Given the description of an element on the screen output the (x, y) to click on. 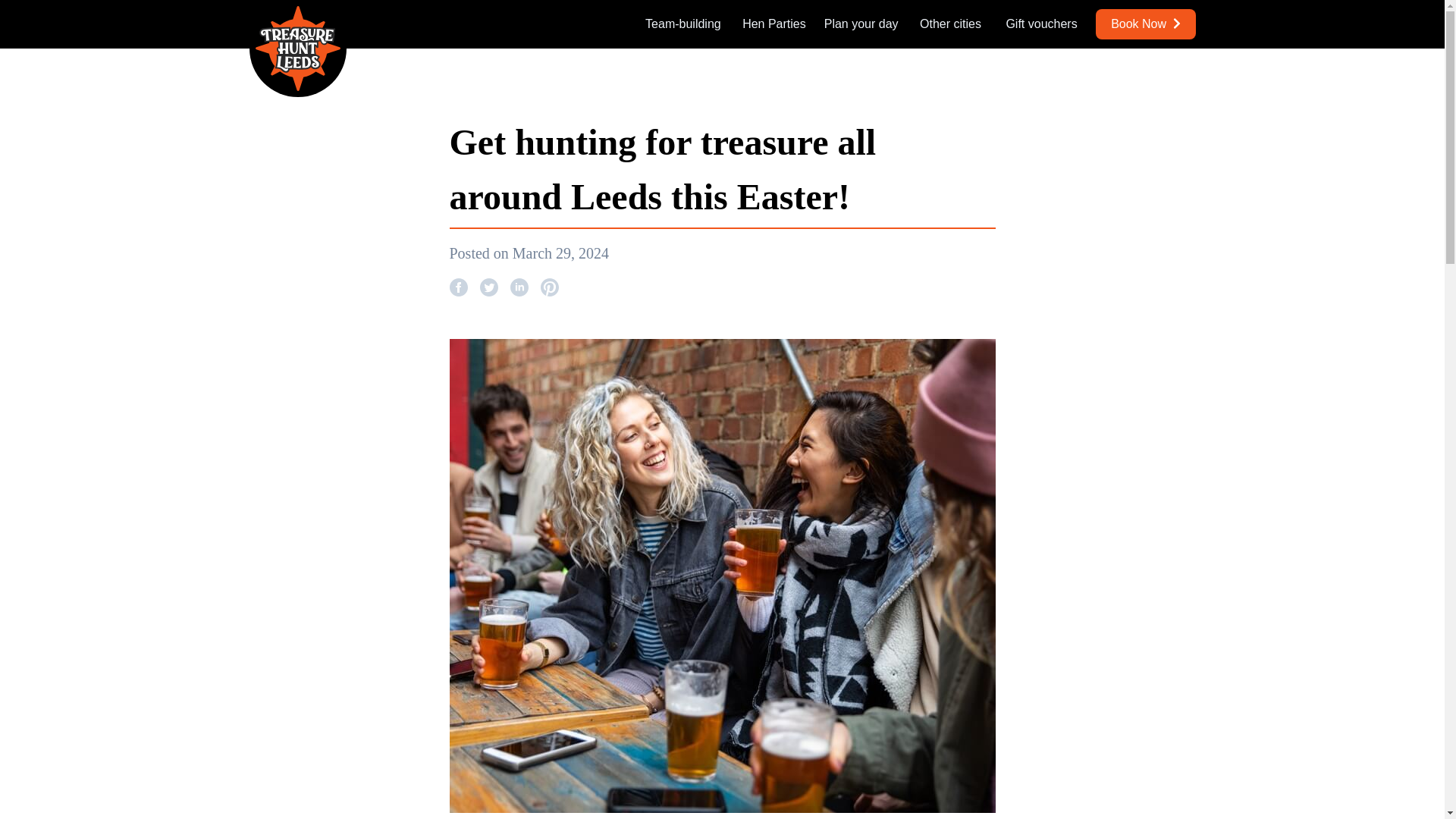
Gift vouchers (1041, 24)
Book Now (1145, 24)
Hen Parties (774, 24)
Plan your day (861, 24)
Team-building (682, 24)
Other cities (950, 24)
